Given the description of an element on the screen output the (x, y) to click on. 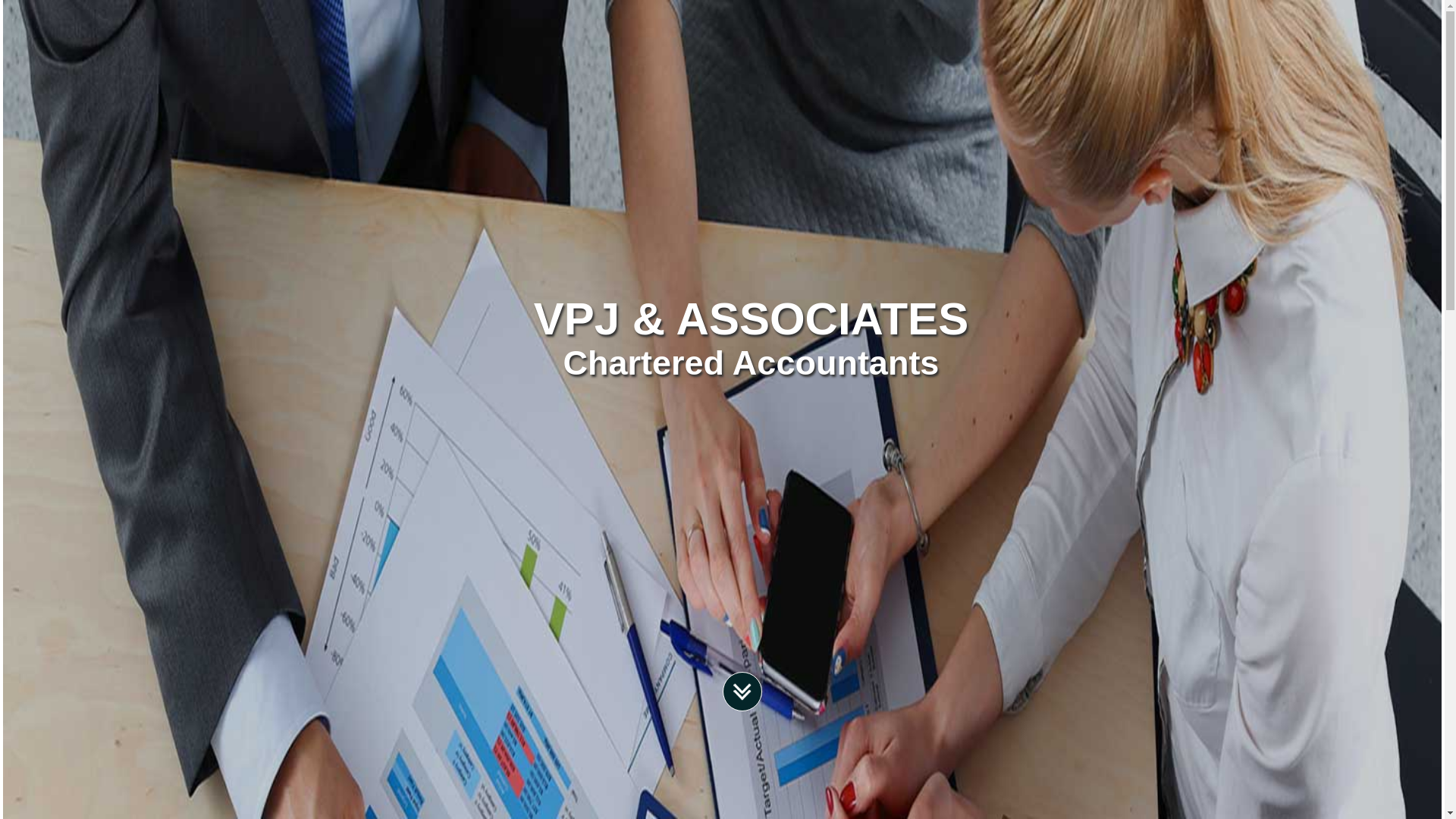
Previous (108, 431)
Next (1321, 431)
